Given the description of an element on the screen output the (x, y) to click on. 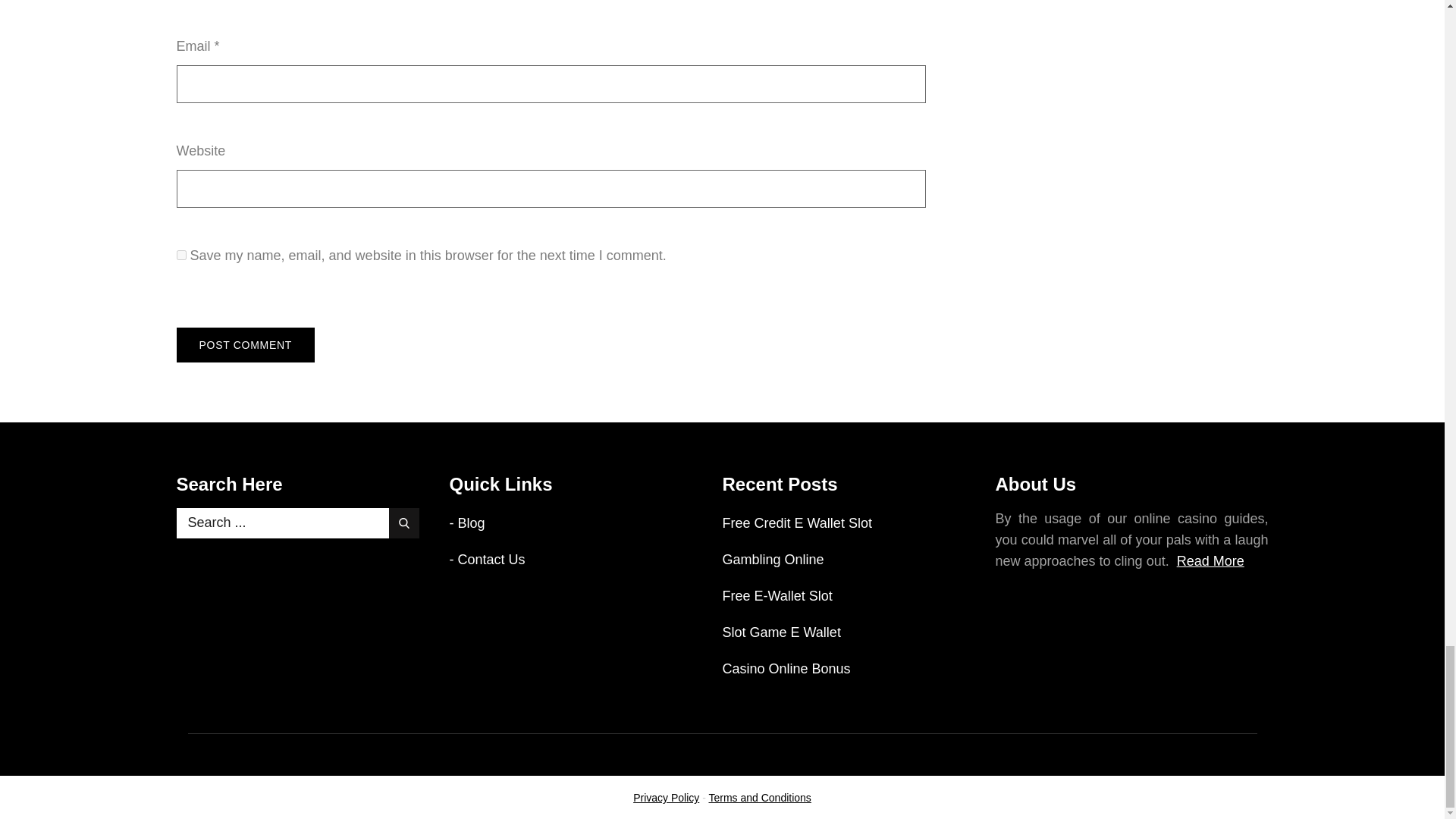
Read More (1210, 561)
Search (403, 522)
Post Comment (245, 344)
Casino Online Bonus (786, 668)
Post Comment (245, 344)
Search for: (297, 522)
Free Credit E Wallet Slot (796, 522)
yes (181, 255)
Slot Game E Wallet (781, 631)
Privacy Policy (665, 797)
Contact Us (491, 559)
Blog (471, 522)
Gambling Online (773, 559)
Free E-Wallet Slot (776, 595)
